Given the description of an element on the screen output the (x, y) to click on. 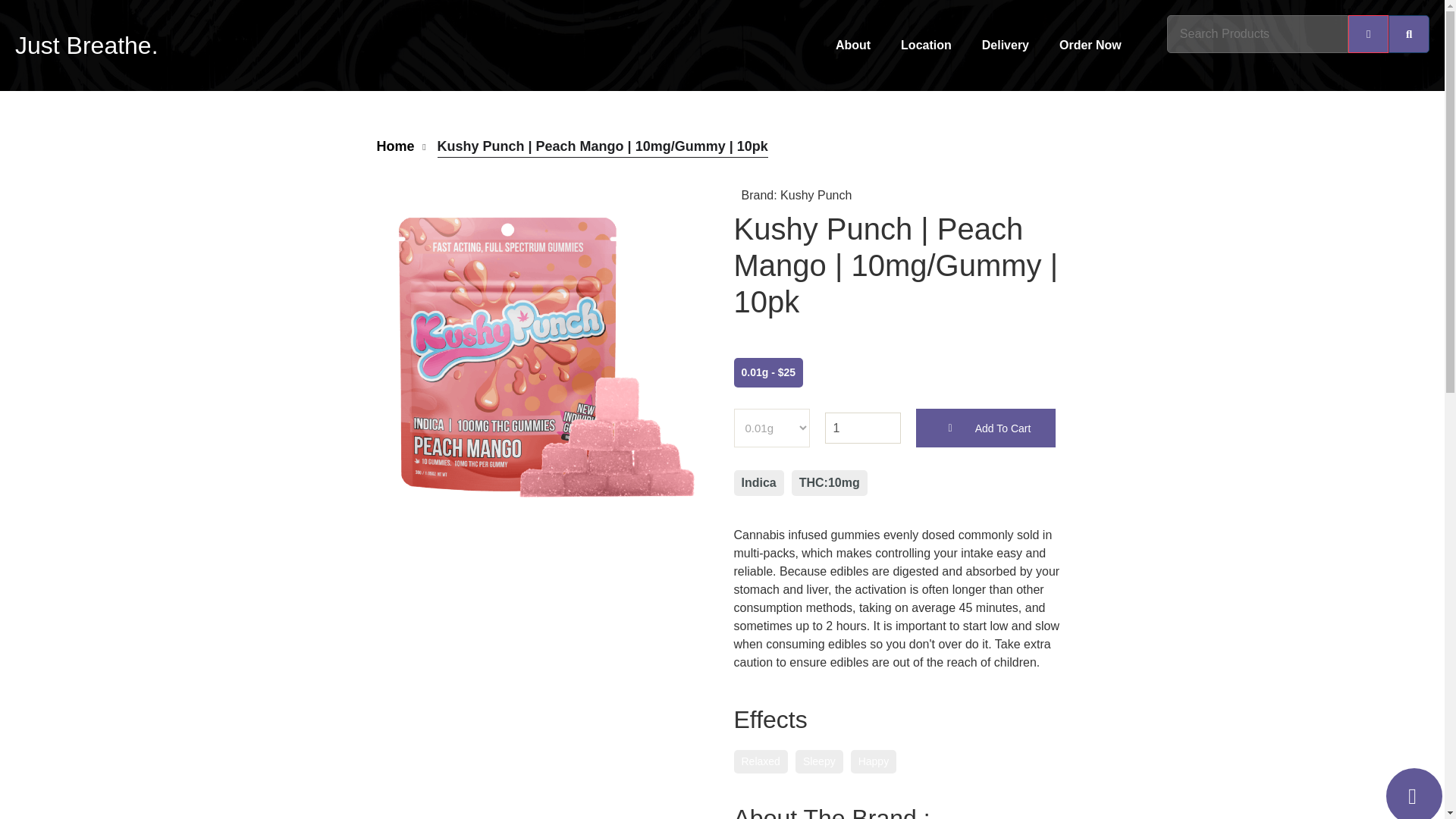
Clear product search keywords (1368, 34)
1 (863, 427)
Order Now (1090, 45)
Location (925, 45)
Just Breathe. (86, 44)
Delivery (1004, 45)
About (853, 45)
Search products with matching keywords (1409, 34)
Home (394, 147)
Add To Cart (986, 427)
